Given the description of an element on the screen output the (x, y) to click on. 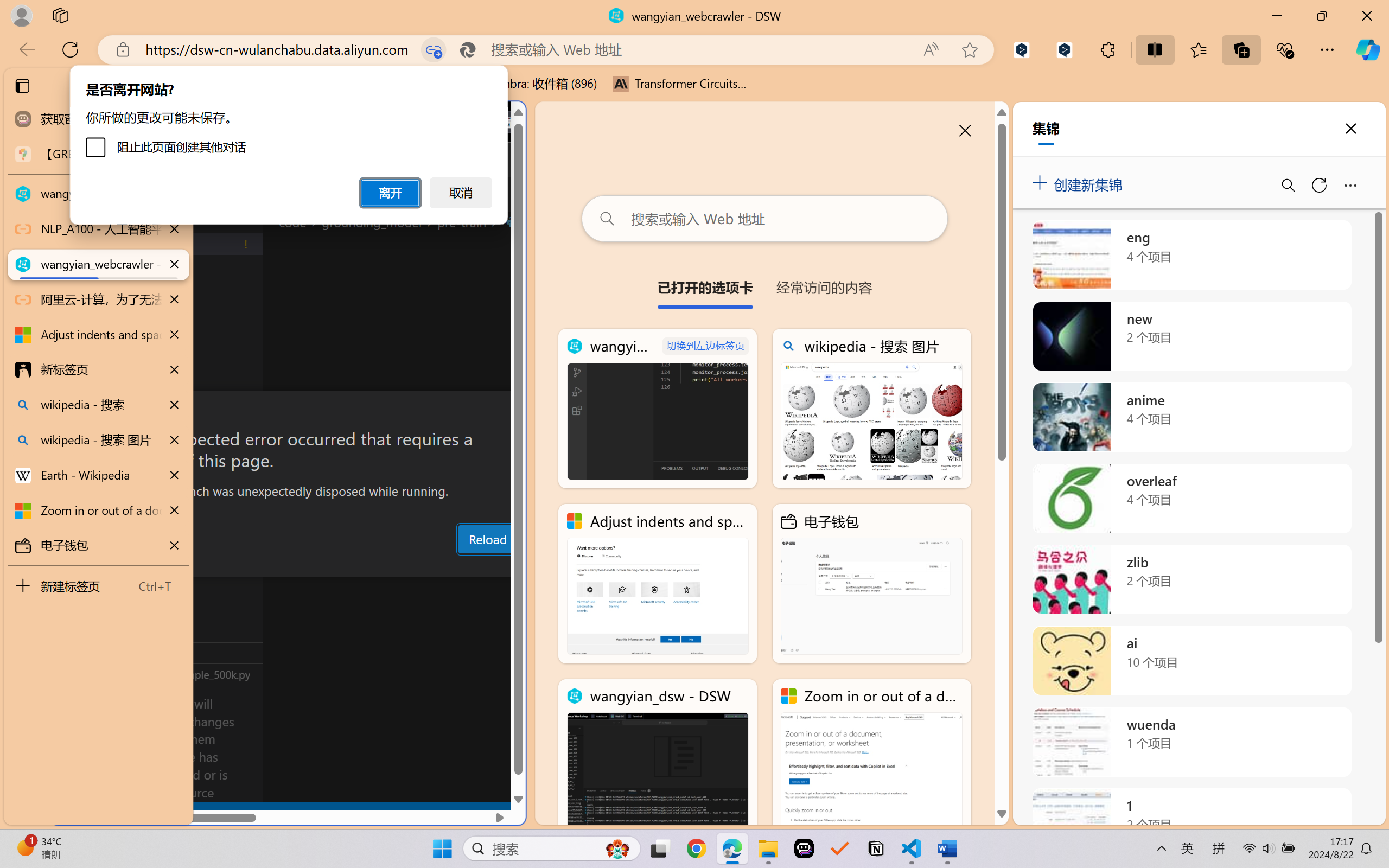
Output (Ctrl+Shift+U) (377, 565)
Problems (Ctrl+Shift+M) (308, 565)
Manage (73, 778)
Google Chrome (696, 848)
Accounts - Sign in requested (73, 732)
